Given the description of an element on the screen output the (x, y) to click on. 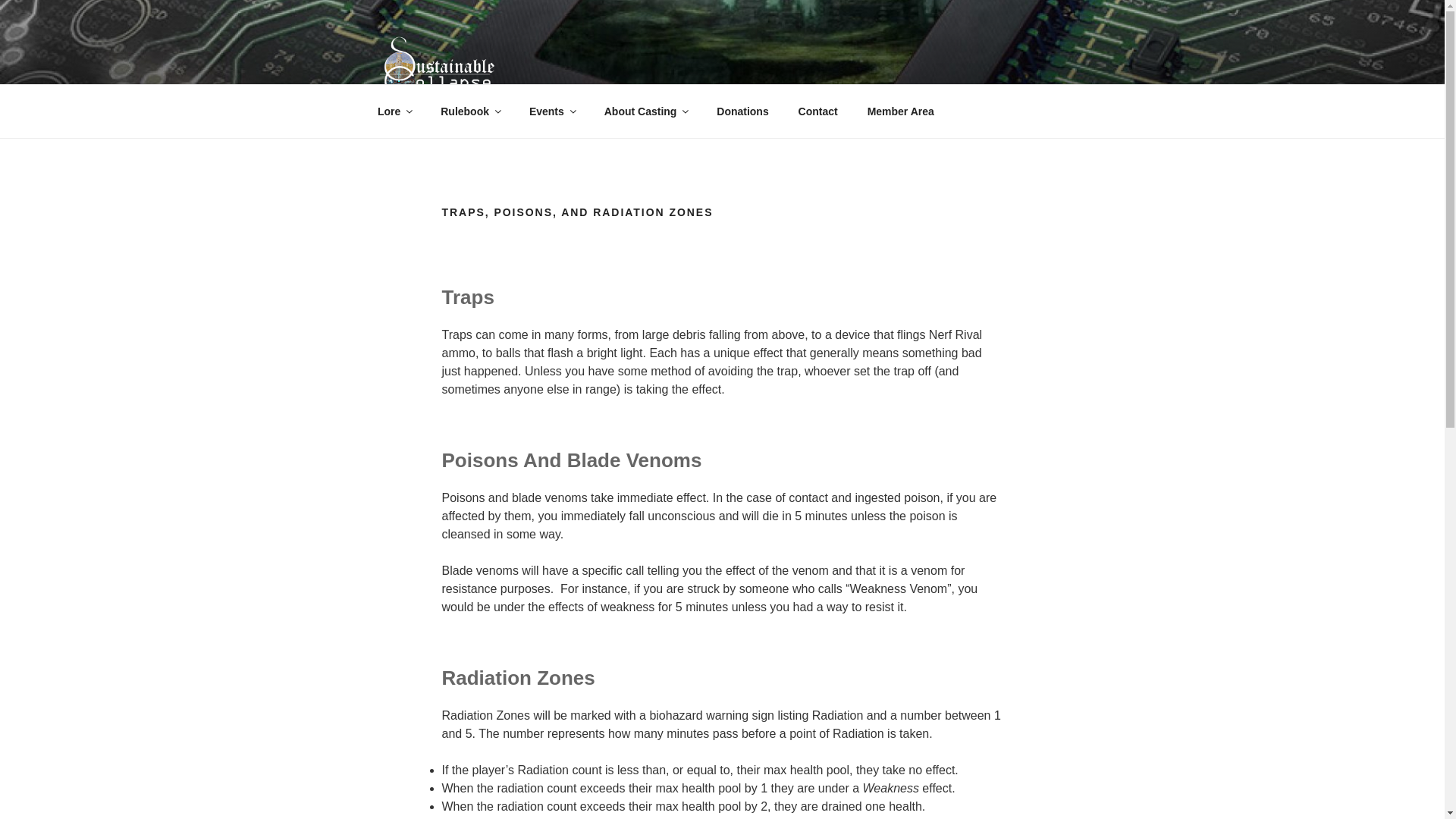
SUSTAINABLE COLLAPSE (574, 119)
Member Area (900, 110)
Rulebook (470, 110)
About Casting (645, 110)
Donations (742, 110)
Contact (817, 110)
Lore (393, 110)
Events (551, 110)
